Given the description of an element on the screen output the (x, y) to click on. 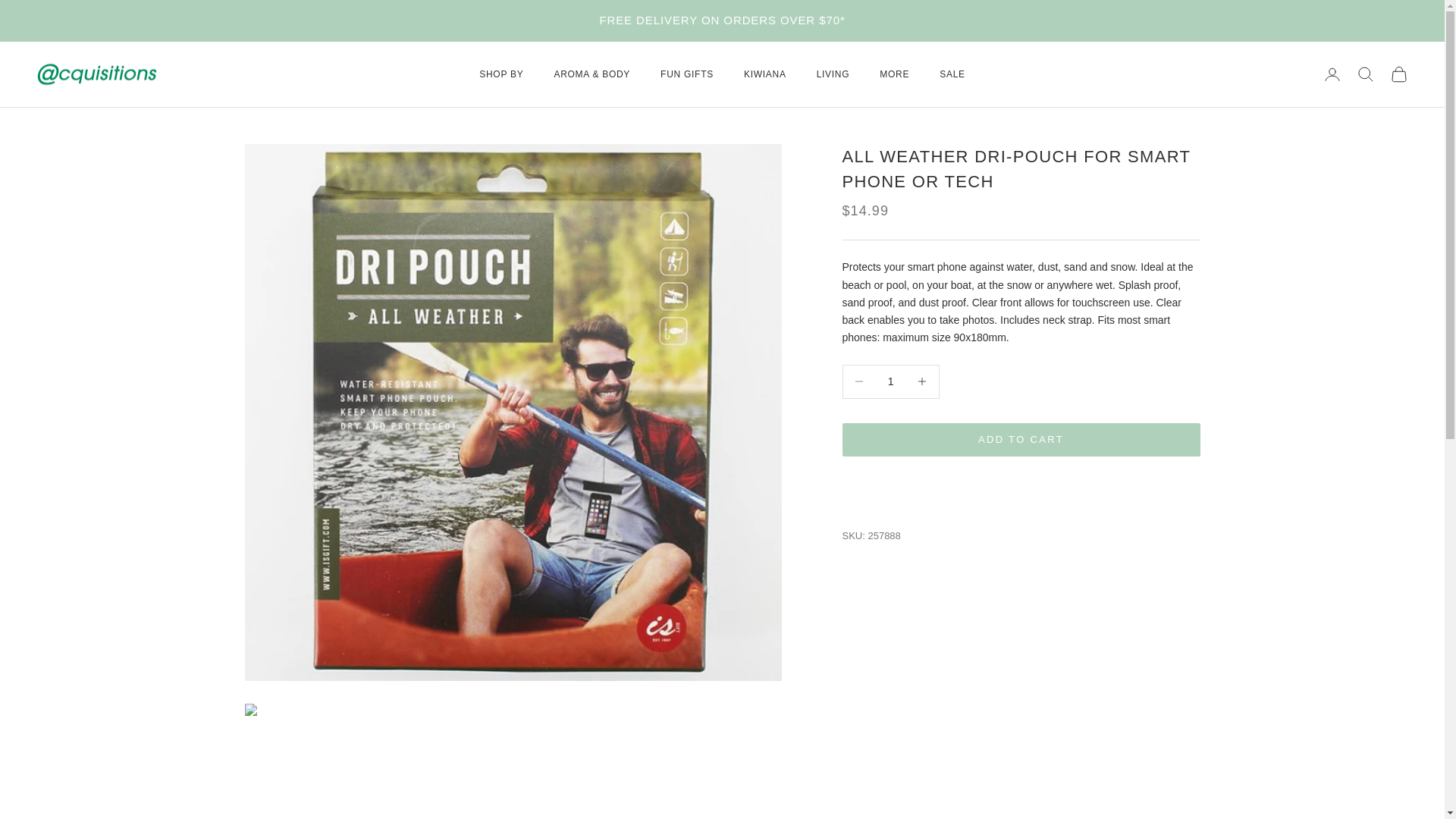
Acquisitions New Zealand (96, 74)
1 (890, 381)
